Given the description of an element on the screen output the (x, y) to click on. 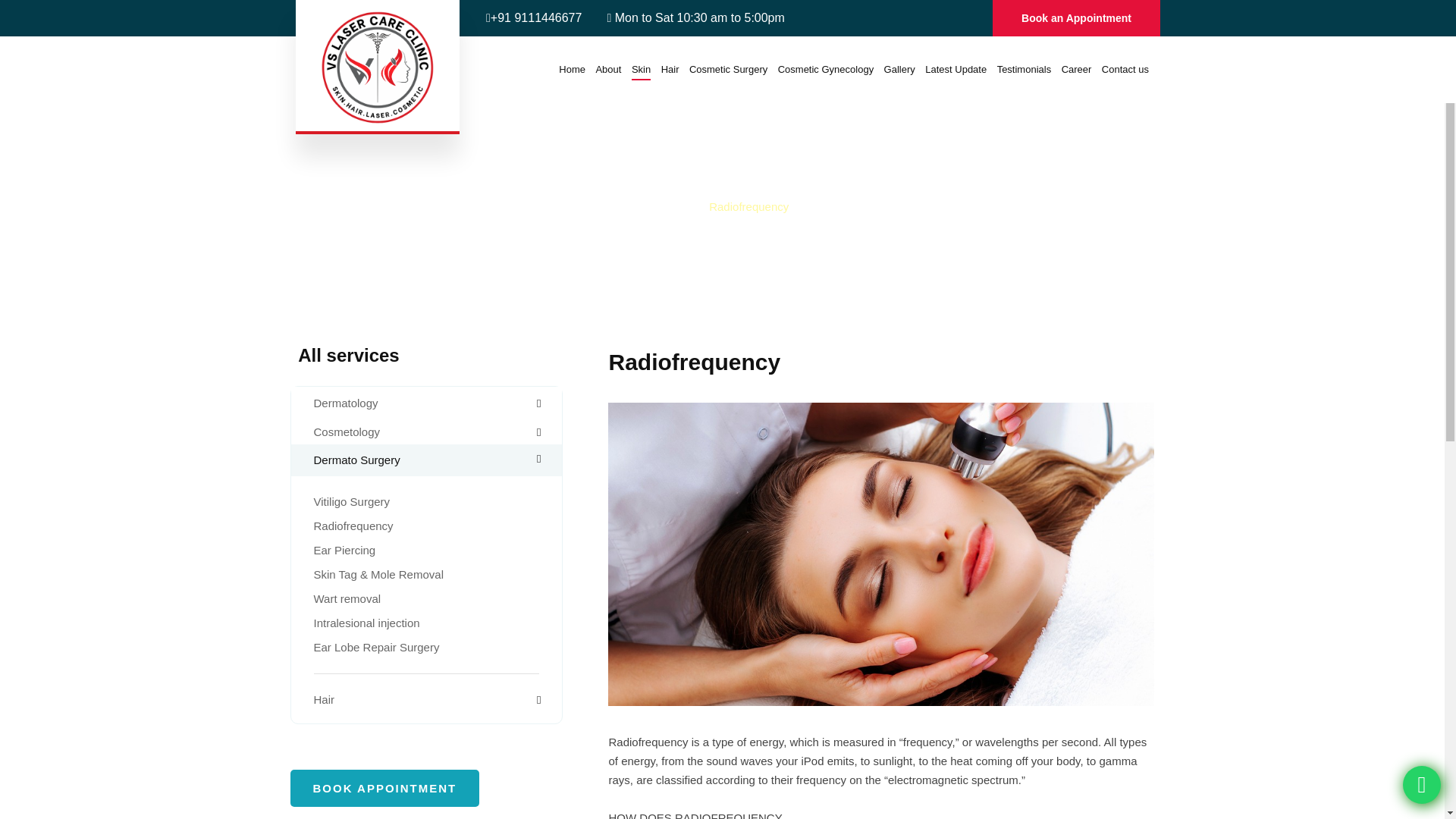
Skin (640, 69)
Home (670, 207)
Career (1076, 69)
Home (572, 69)
Gallery (899, 69)
About (608, 69)
Testimonials (1024, 69)
Cosmetic Gynecology (825, 69)
Cosmetic Surgery (727, 69)
Dermatology (346, 402)
Contact us (1125, 69)
Book an Appointment (1076, 18)
Latest Update (955, 69)
Cosmetology (347, 431)
